Given the description of an element on the screen output the (x, y) to click on. 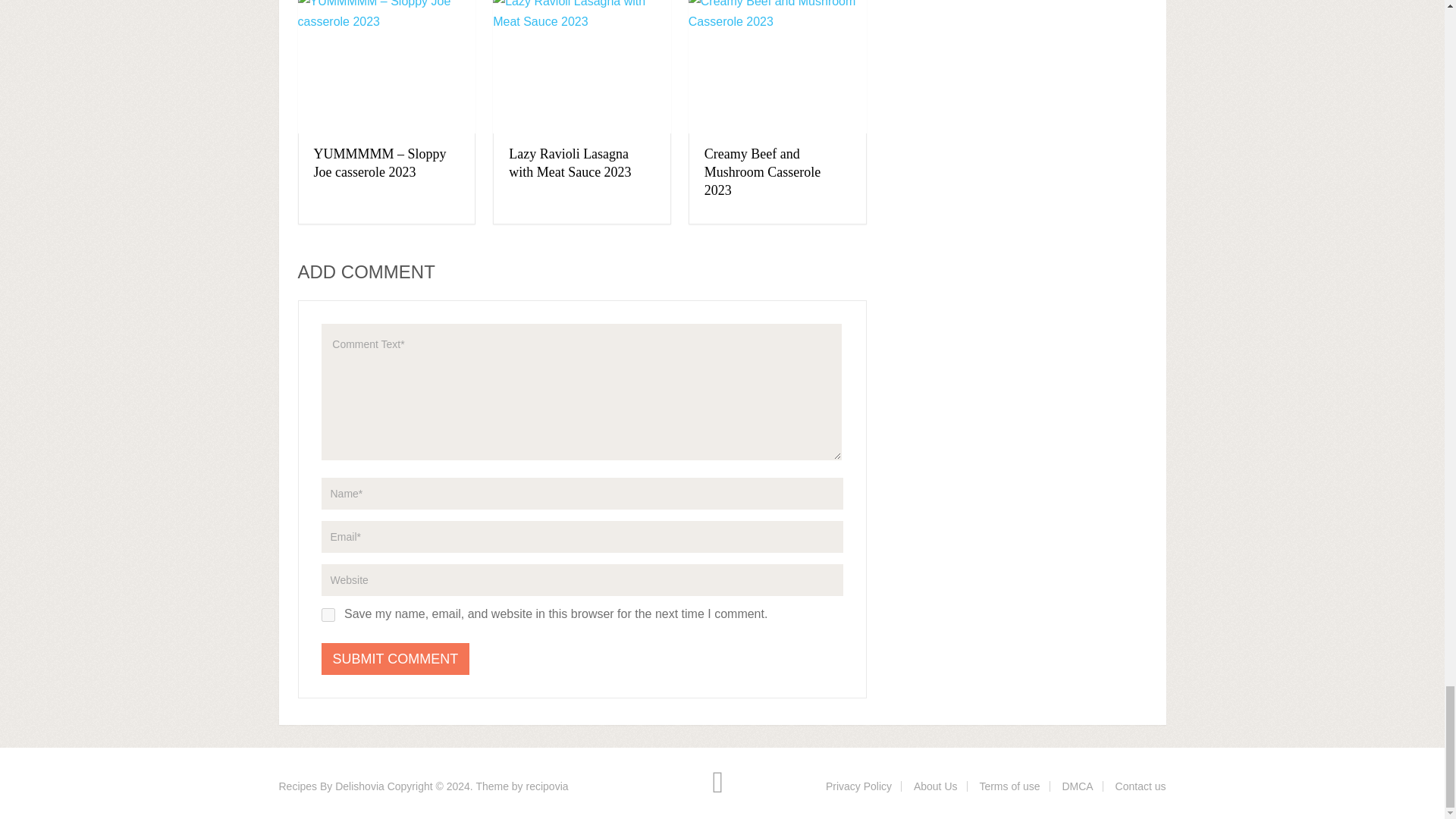
Contact us (1140, 786)
Terms of use (1008, 786)
DMCA (1077, 786)
Submit Comment (395, 658)
Lazy Ravioli Lasagna with Meat Sauce 2023 (569, 162)
Privacy Policy (858, 786)
Recipes By Delishovia (331, 786)
Submit Comment (395, 658)
recipovia (547, 786)
Creamy Beef and Mushroom Casserole 2023 (762, 172)
yes (327, 614)
About Us (936, 786)
